Given the description of an element on the screen output the (x, y) to click on. 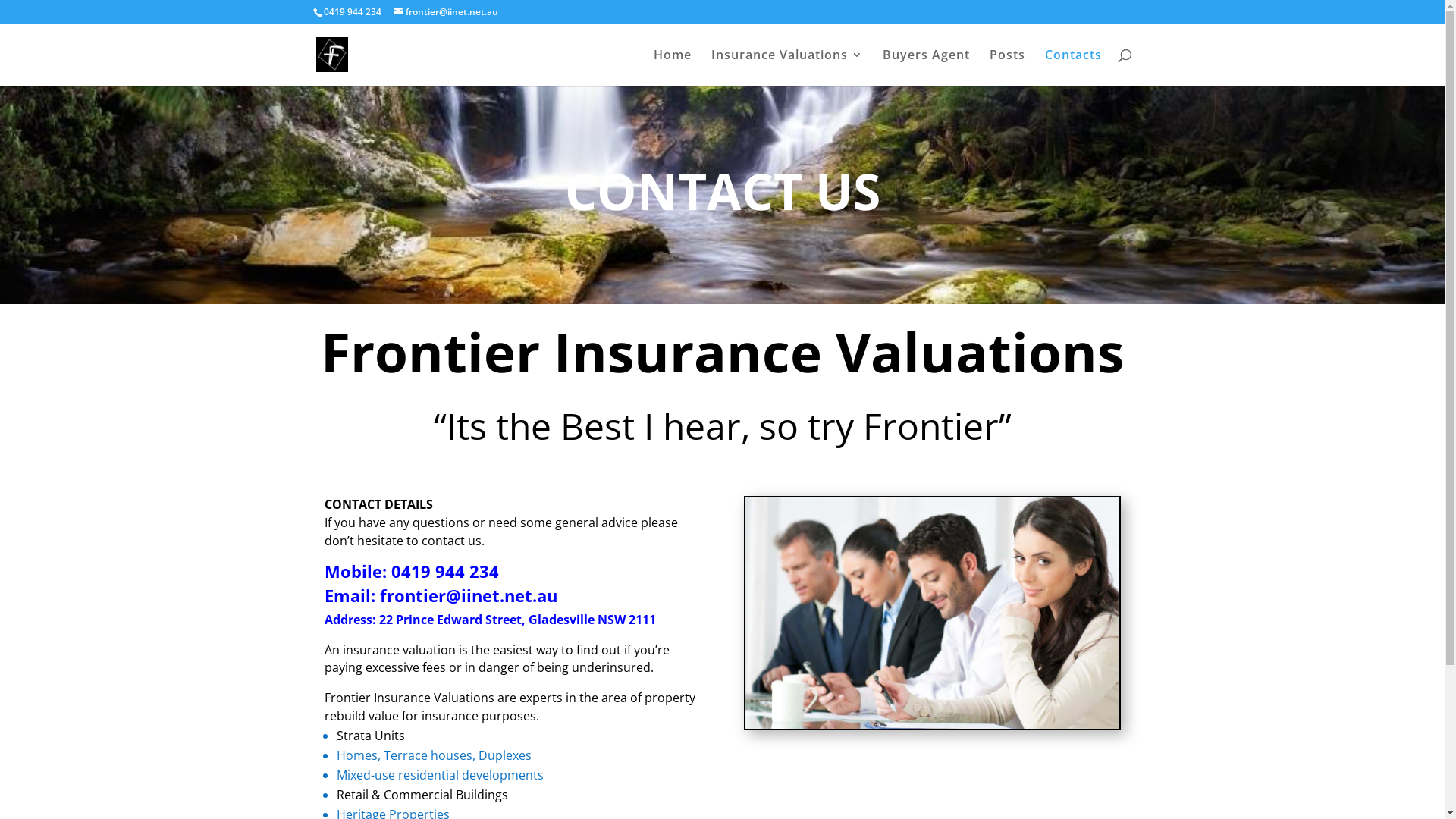
Contacts Element type: text (1072, 67)
Buyers Agent Element type: text (925, 67)
Posts Element type: text (1006, 67)
Home Element type: text (672, 67)
frontier@iinet.net.au Element type: text (444, 11)
frontier@iinet.net.au Element type: text (467, 594)
Insurance Valuations Element type: text (786, 67)
